Given the description of an element on the screen output the (x, y) to click on. 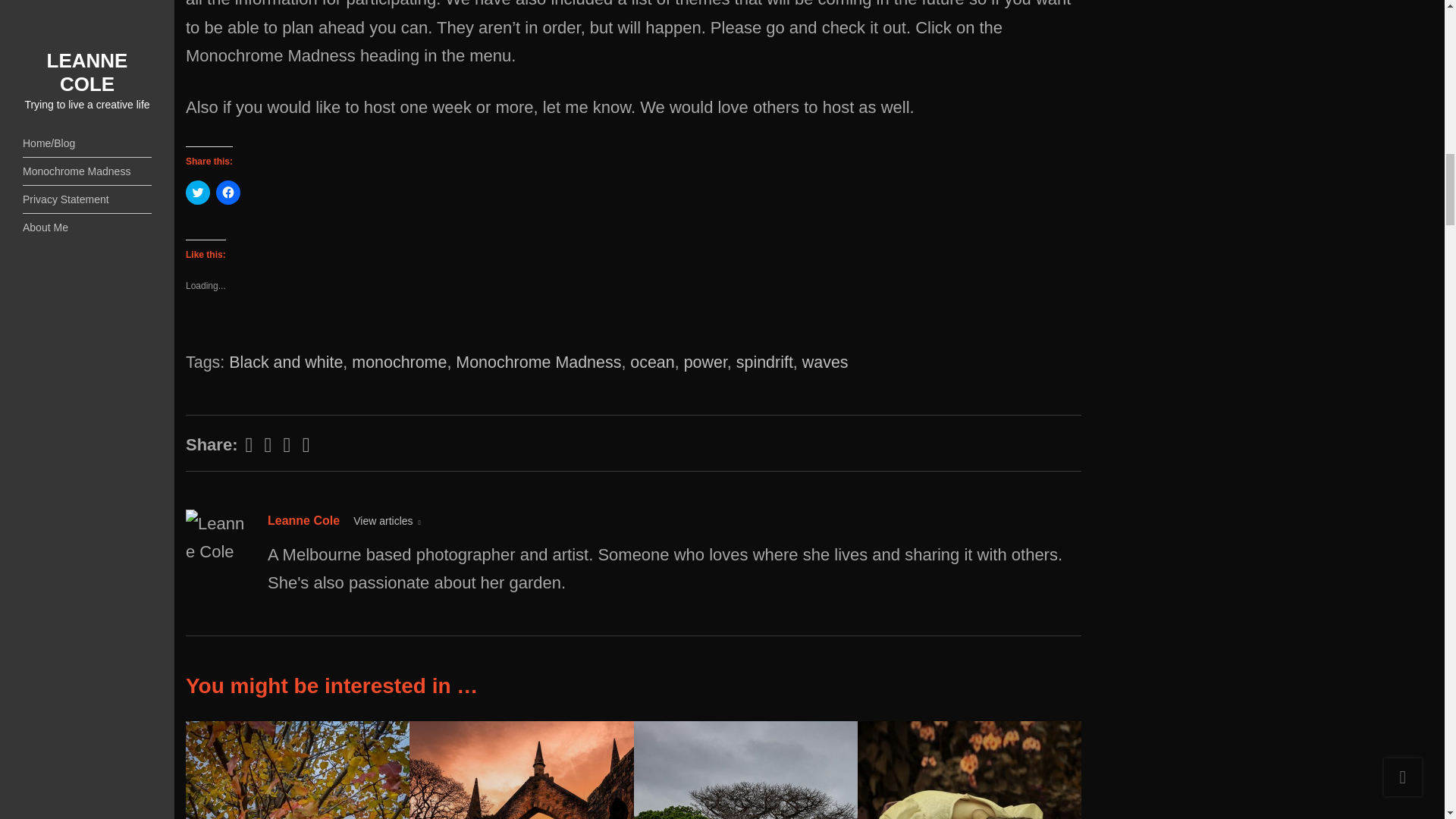
View articles (386, 521)
Click to share on Facebook (227, 192)
Black and white (285, 361)
ocean (652, 361)
waves (825, 361)
Click to share on Twitter (197, 192)
spindrift (764, 361)
power (705, 361)
Monochrome Madness (538, 361)
monochrome (399, 361)
